Given the description of an element on the screen output the (x, y) to click on. 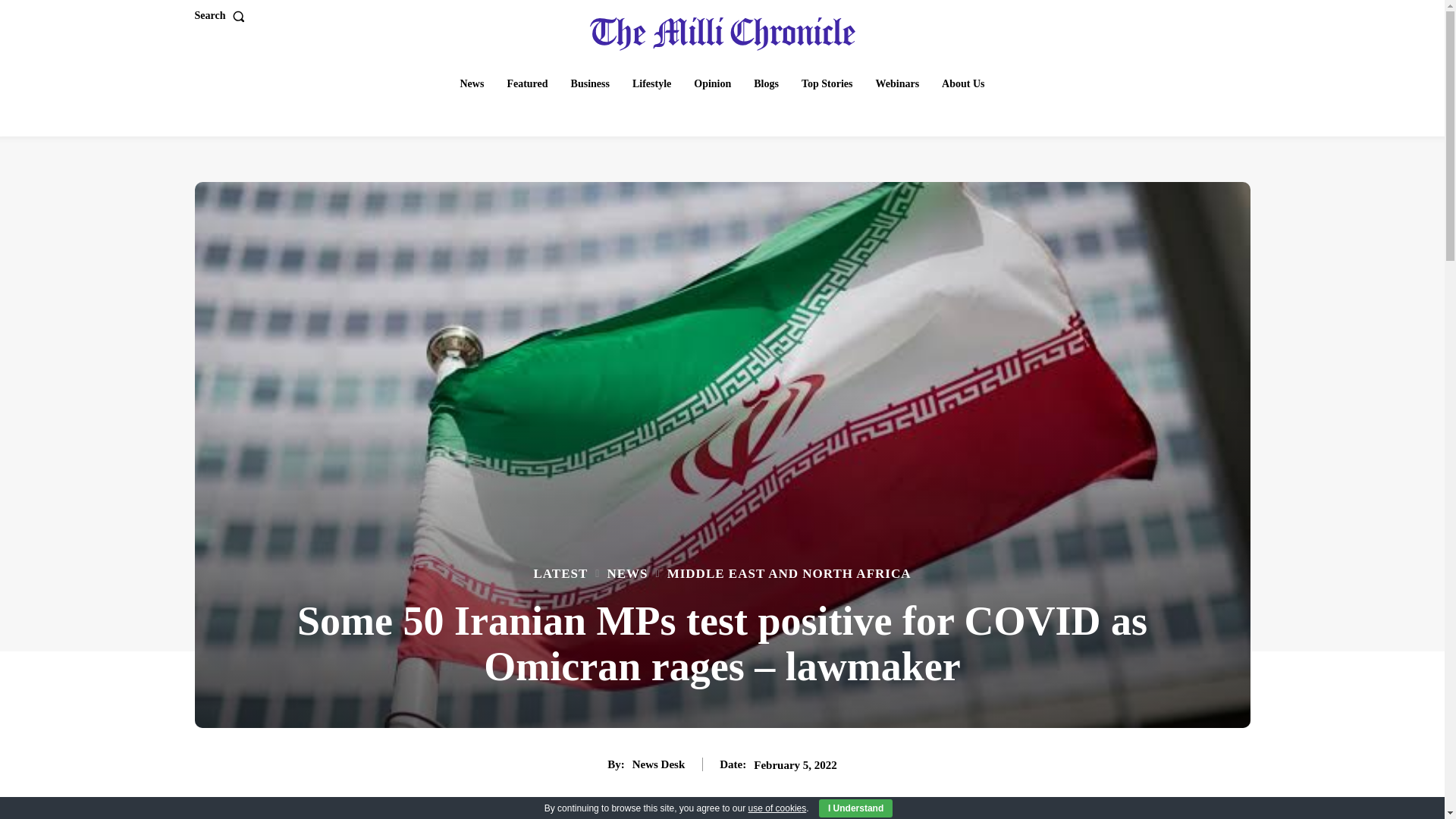
News (471, 83)
Search (221, 15)
Lifestyle (651, 83)
Business (590, 83)
Featured (526, 83)
